Given the description of an element on the screen output the (x, y) to click on. 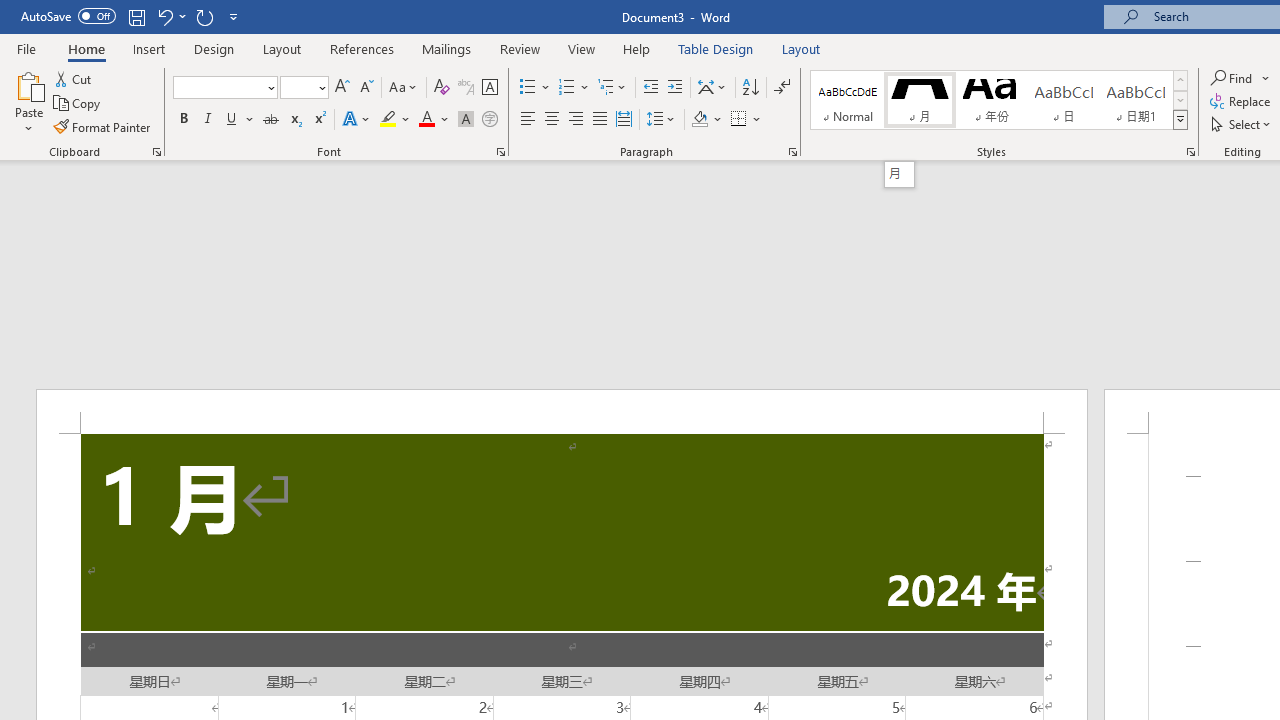
Header -Section 1- (561, 411)
Undo Apply Quick Style (164, 15)
Replace... (1242, 101)
Enclose Characters... (489, 119)
Font... (500, 151)
Row Down (1179, 100)
Clear Formatting (442, 87)
